Given the description of an element on the screen output the (x, y) to click on. 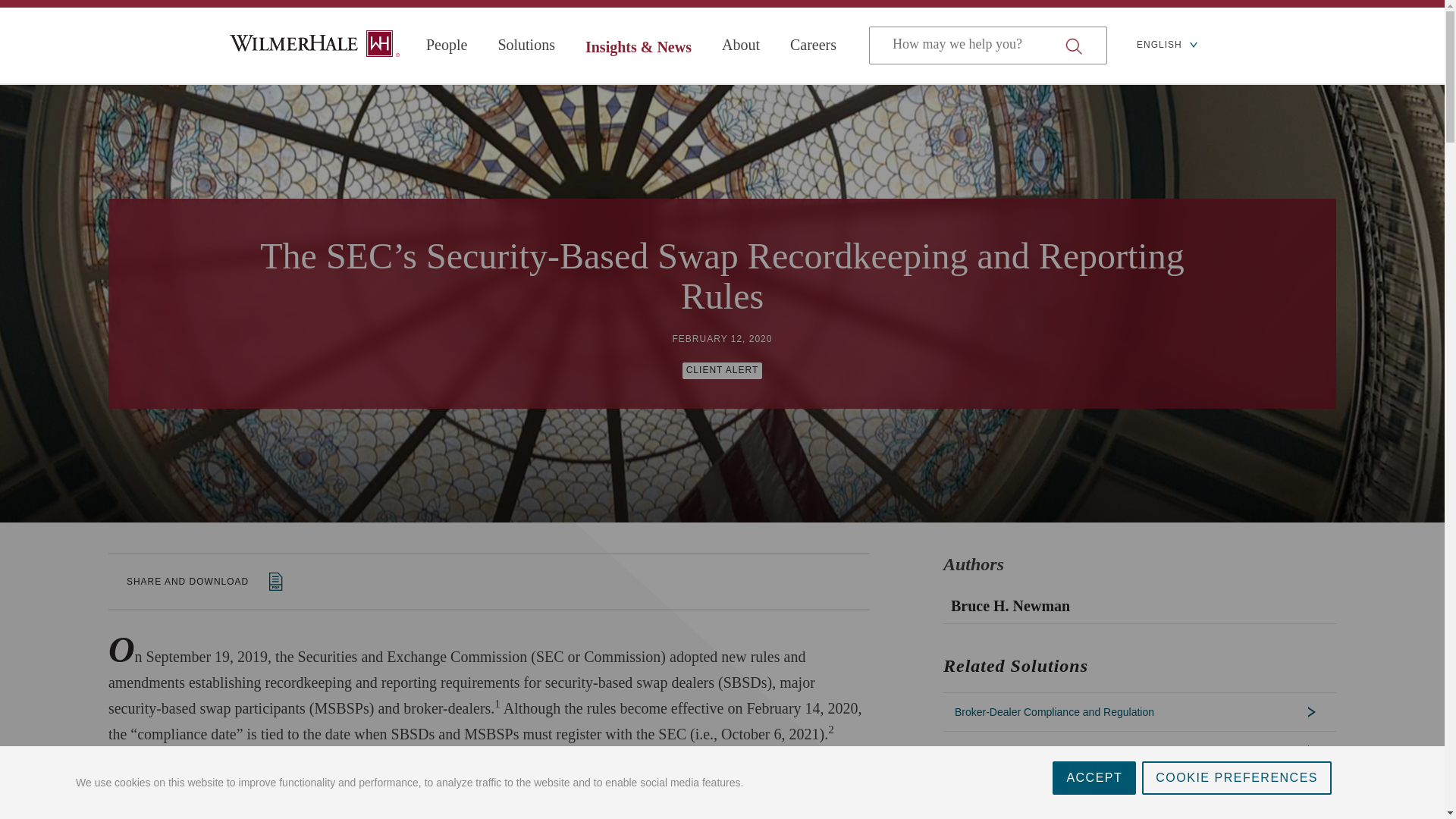
Financial Services (1139, 789)
Bruce H. Newman (1138, 607)
COOKIE PREFERENCES (1236, 795)
People (446, 45)
ENGLISH (1166, 45)
About (741, 45)
Careers (812, 45)
ACCEPT (1093, 811)
Futures and Derivatives (1139, 814)
Solutions (525, 45)
Broker-Dealer Compliance and Regulation (1139, 711)
Cross-Border Investigations and Compliance (1139, 750)
